Given the description of an element on the screen output the (x, y) to click on. 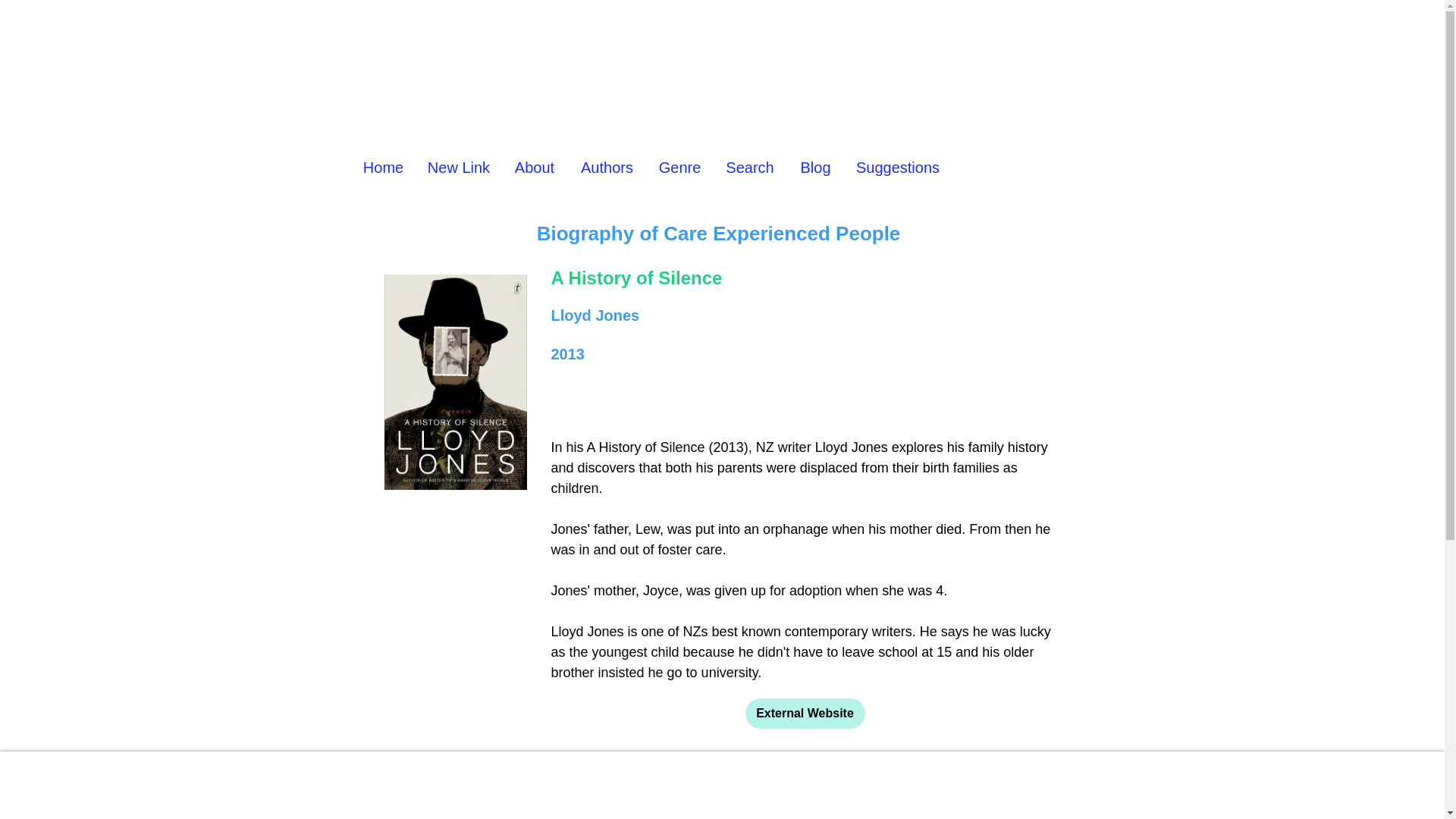
Home (382, 167)
About (534, 167)
New Link (457, 167)
